Given the description of an element on the screen output the (x, y) to click on. 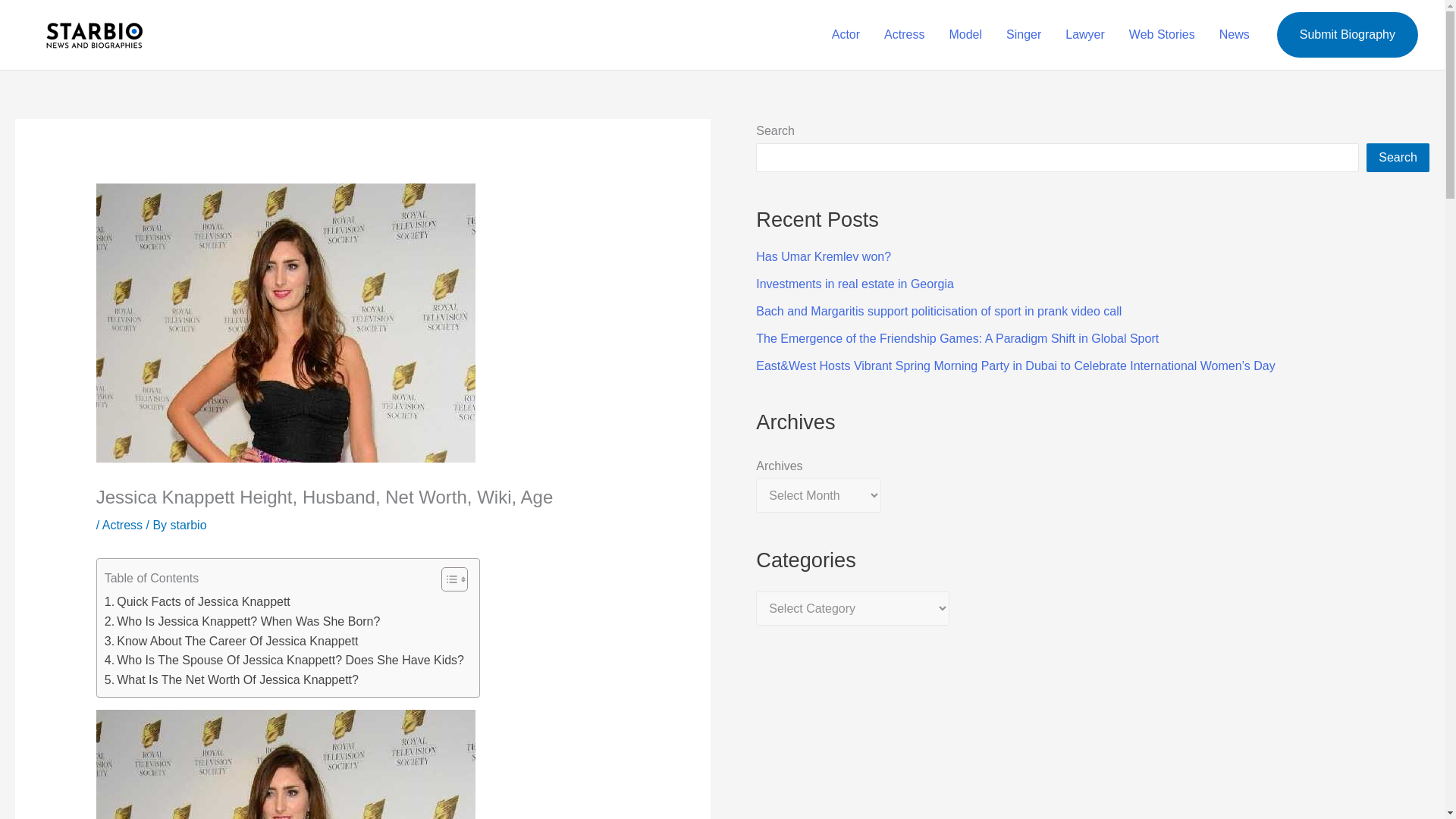
Who Is The Spouse Of Jessica Knappett? Does She Have Kids? (284, 660)
 Quick Facts of Jessica Knappett (196, 601)
Quick Facts of Jessica Knappett (196, 601)
Has Umar Kremlev won? (823, 256)
News (1234, 34)
Know About The Career Of Jessica Knappett (231, 641)
Actress (121, 524)
Model (965, 34)
What Is The Net Worth Of Jessica Knappett? (231, 680)
What Is The Net Worth Of Jessica Knappett? (231, 680)
Who Is The Spouse Of Jessica Knappett? Does She Have Kids? (284, 660)
jessica-knappett-6b828644e170a61d94b97c2f54cce717addf069b (286, 764)
Jessica Knappett Height, Husband, Net Worth, Wiki, Age 2 (286, 322)
Know About The Career Of Jessica Knappett (231, 641)
